Given the description of an element on the screen output the (x, y) to click on. 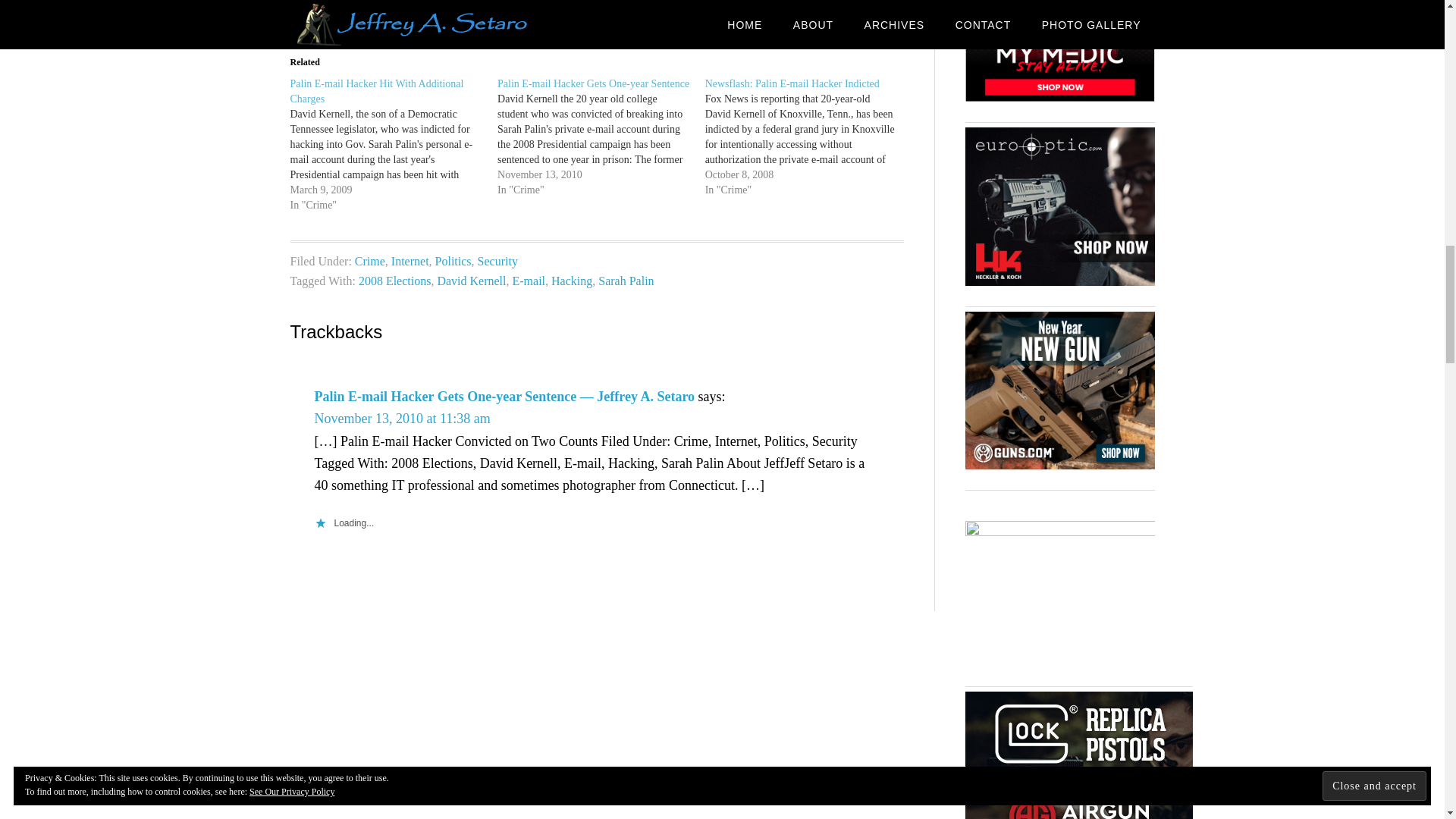
Like or Reblog (595, 9)
Palin E-mail Hacker Hit With Additional Charges (393, 144)
Palin E-mail Hacker Hit With Additional Charges (376, 90)
Palin E-mail Hacker Gets One-year Sentence (592, 83)
